Given the description of an element on the screen output the (x, y) to click on. 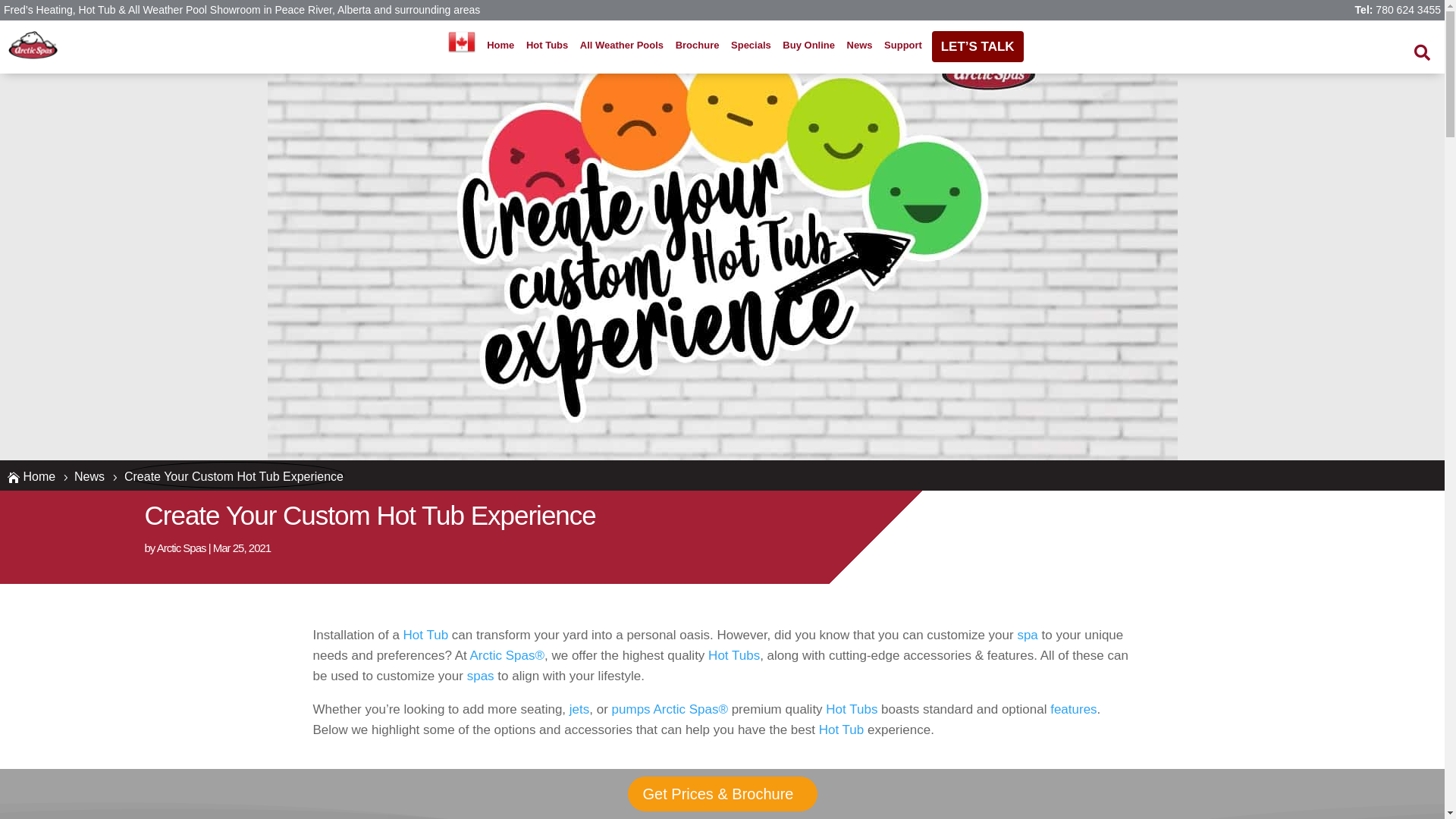
All Weather Pools Element type: text (622, 45)
Create your own Custom Hot Tub Element type: hover (721, 232)
Choose Your Location Element type: hover (460, 45)
Specials Element type: text (751, 45)
Arctic Spas Element type: text (181, 547)
features Element type: text (1073, 709)
pumps Element type: text (630, 709)
Hot Tubs Element type: text (733, 655)
Support Element type: text (902, 45)
Choose Your Location Element type: hover (461, 41)
News Element type: text (858, 45)
jets Element type: text (579, 709)
Home Element type: text (500, 45)
Hot Tubs Element type: text (851, 709)
spa Element type: text (1026, 634)
780 624 3455 Element type: text (1407, 9)
Home Element type: text (38, 476)
Brochure Element type: text (696, 45)
News Element type: text (89, 476)
Hot Tub Element type: text (841, 729)
Hot Tubs Element type: text (547, 45)
Hot Tub Element type: text (425, 634)
Buy Online Element type: text (808, 45)
spas Element type: text (480, 675)
Get Prices & Brochure Element type: text (721, 793)
